Given the description of an element on the screen output the (x, y) to click on. 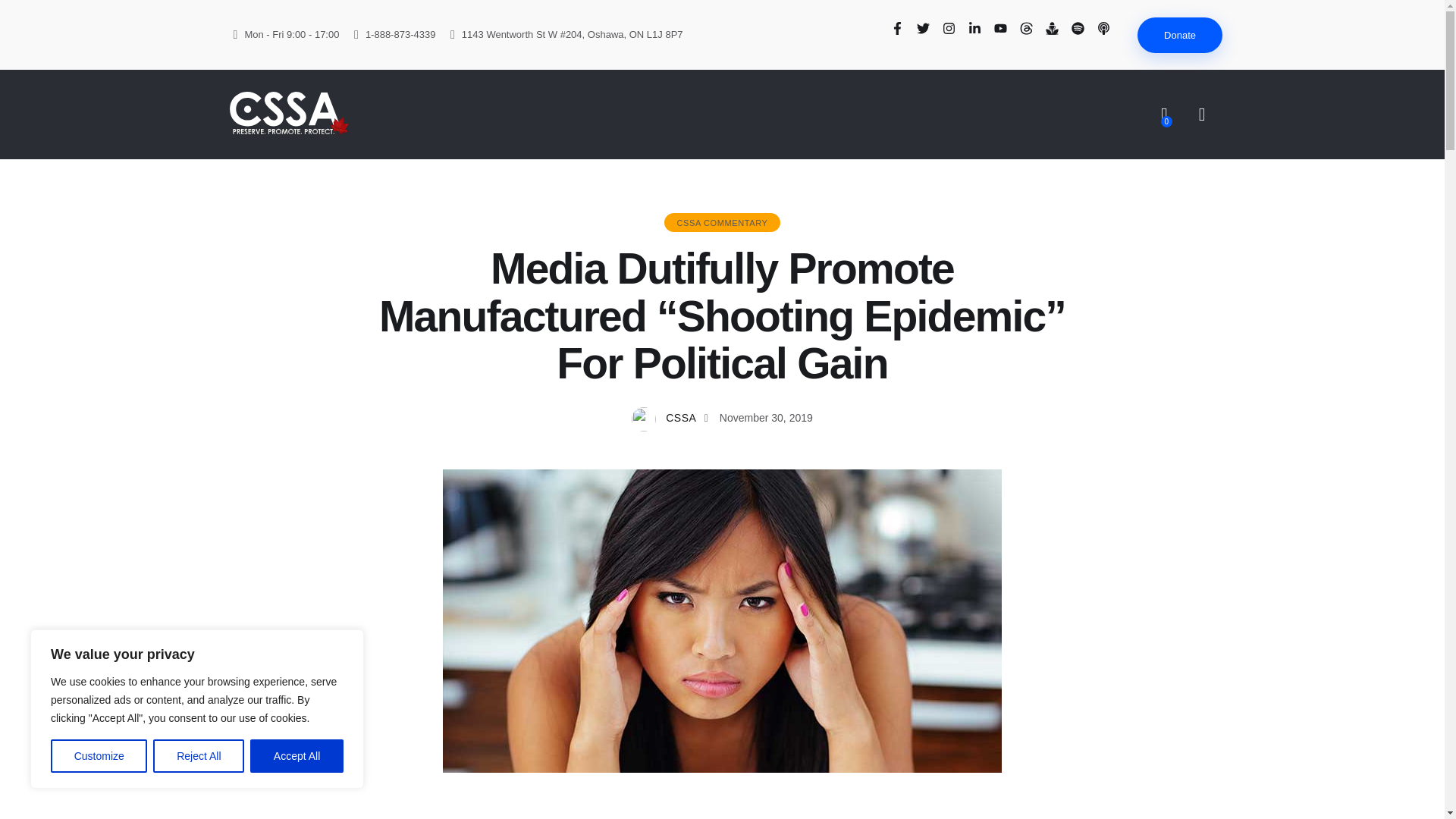
Customize (98, 756)
1-888-873-4339 (394, 34)
Donate (1180, 35)
Accept All (296, 756)
Reject All (198, 756)
